Given the description of an element on the screen output the (x, y) to click on. 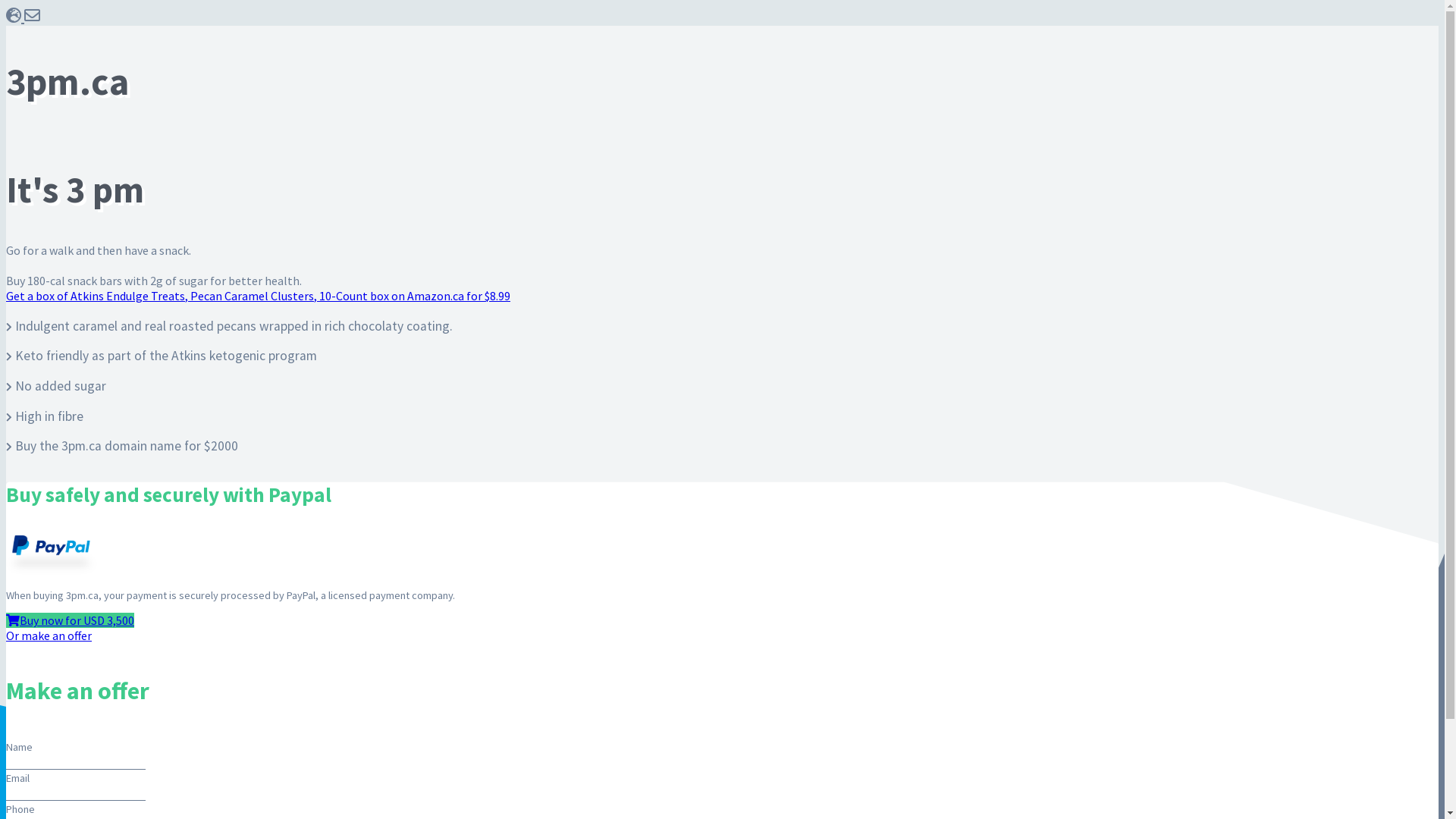
Buy now for USD 3,500 Element type: text (70, 619)
Or make an offer Element type: text (48, 635)
